Given the description of an element on the screen output the (x, y) to click on. 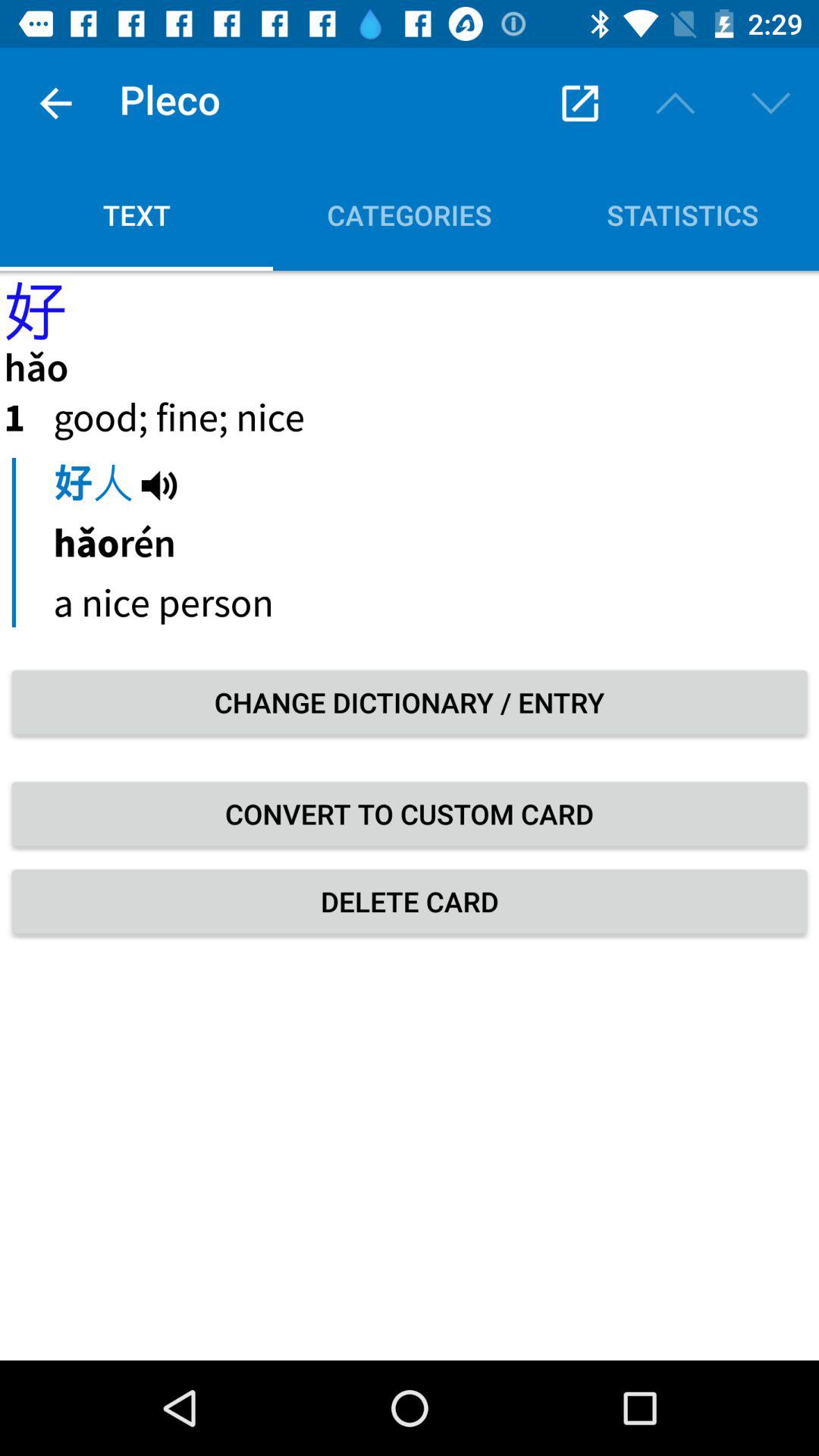
scroll until the change dictionary / entry icon (409, 702)
